Given the description of an element on the screen output the (x, y) to click on. 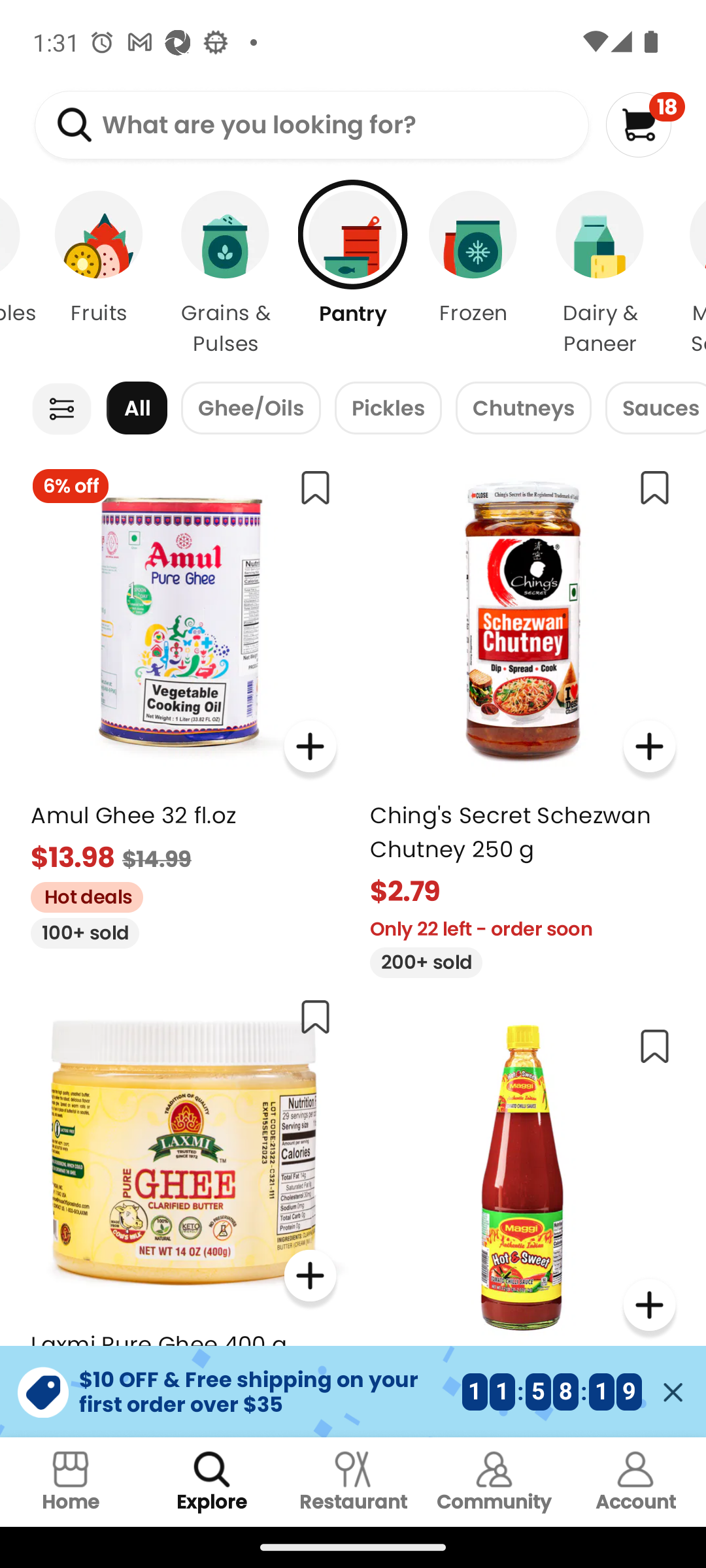
What are you looking for? (311, 124)
18 (644, 124)
Fruits (98, 274)
Grains & Pulses (225, 274)
Pantry (352, 274)
Frozen (473, 274)
Dairy & Paneer (600, 274)
All (136, 407)
Ghee/Oils (250, 407)
Pickles (387, 407)
Chutneys (523, 407)
Sauces (655, 407)
Hot deals (79, 894)
Laxmi Pure Ghee 400 g $8.99 50+ sold (182, 1210)
Maggi Hot & Sweet Tomato Chili Sauce 1000 g $5.49 (522, 1224)
Home (70, 1482)
Explore (211, 1482)
Restaurant (352, 1482)
Community (493, 1482)
Account (635, 1482)
